Given the description of an element on the screen output the (x, y) to click on. 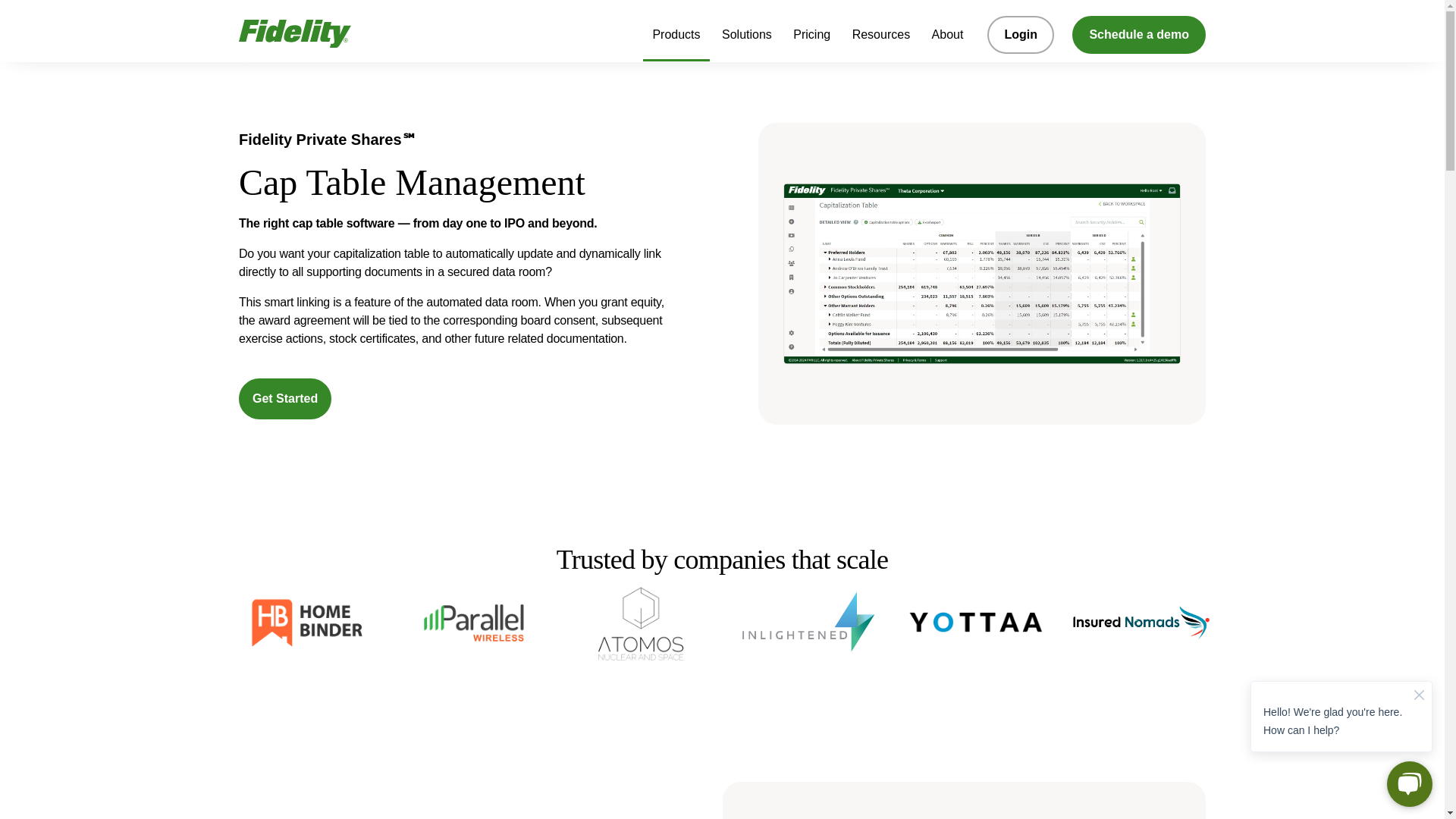
Solutions (746, 39)
Get Started (284, 398)
Pricing (812, 39)
Resources (880, 39)
fidelity-logo (294, 30)
Schedule a demo (1138, 34)
About (947, 39)
Login (1020, 34)
Products (676, 40)
